Given the description of an element on the screen output the (x, y) to click on. 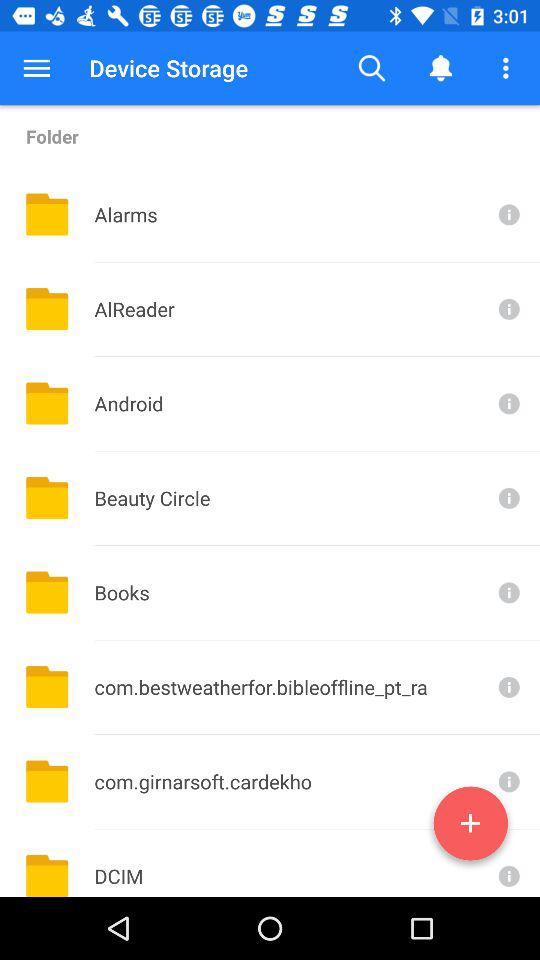
more information on alreader folder (507, 308)
